Given the description of an element on the screen output the (x, y) to click on. 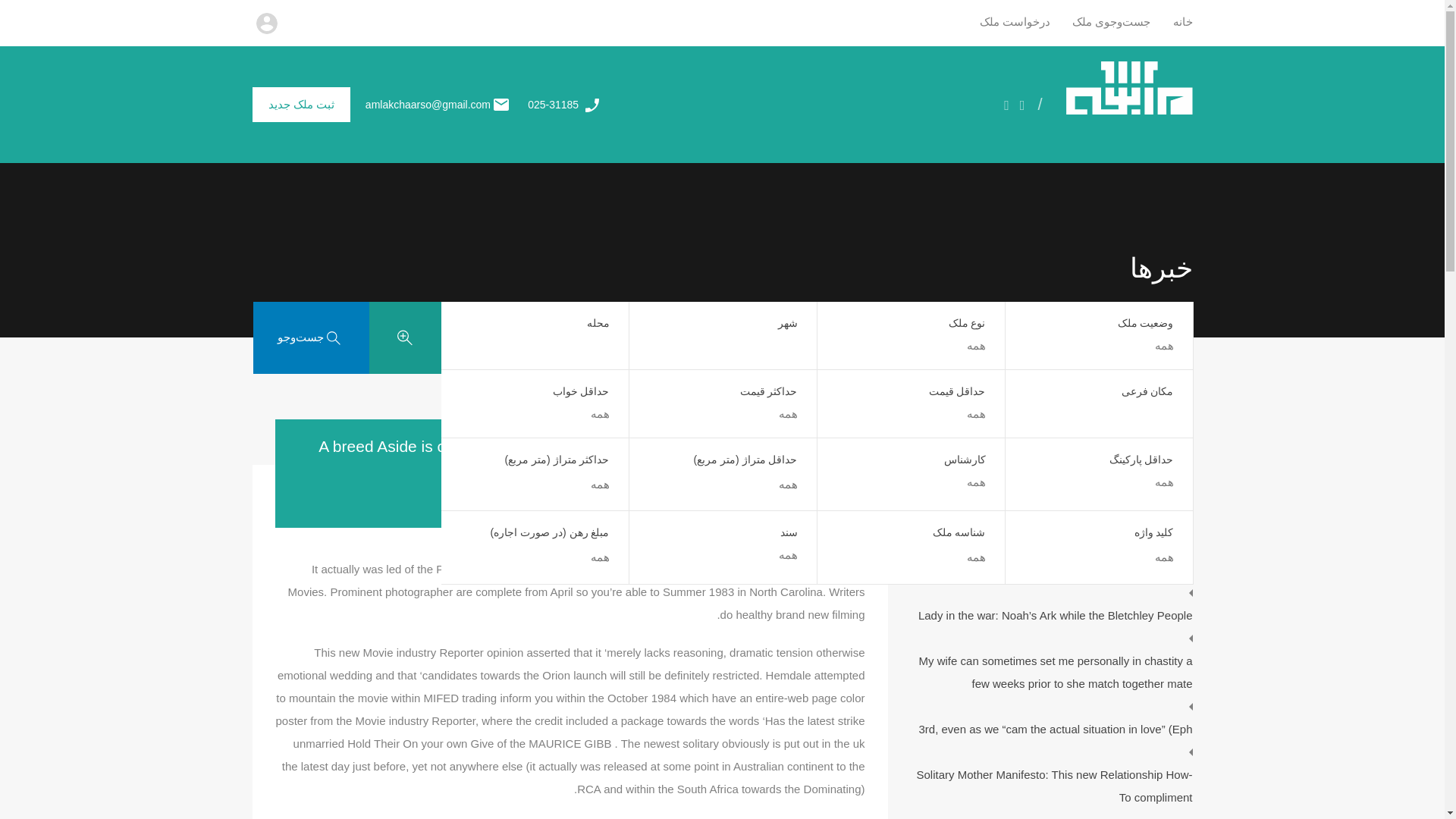
025-31185 (552, 104)
